Given the description of an element on the screen output the (x, y) to click on. 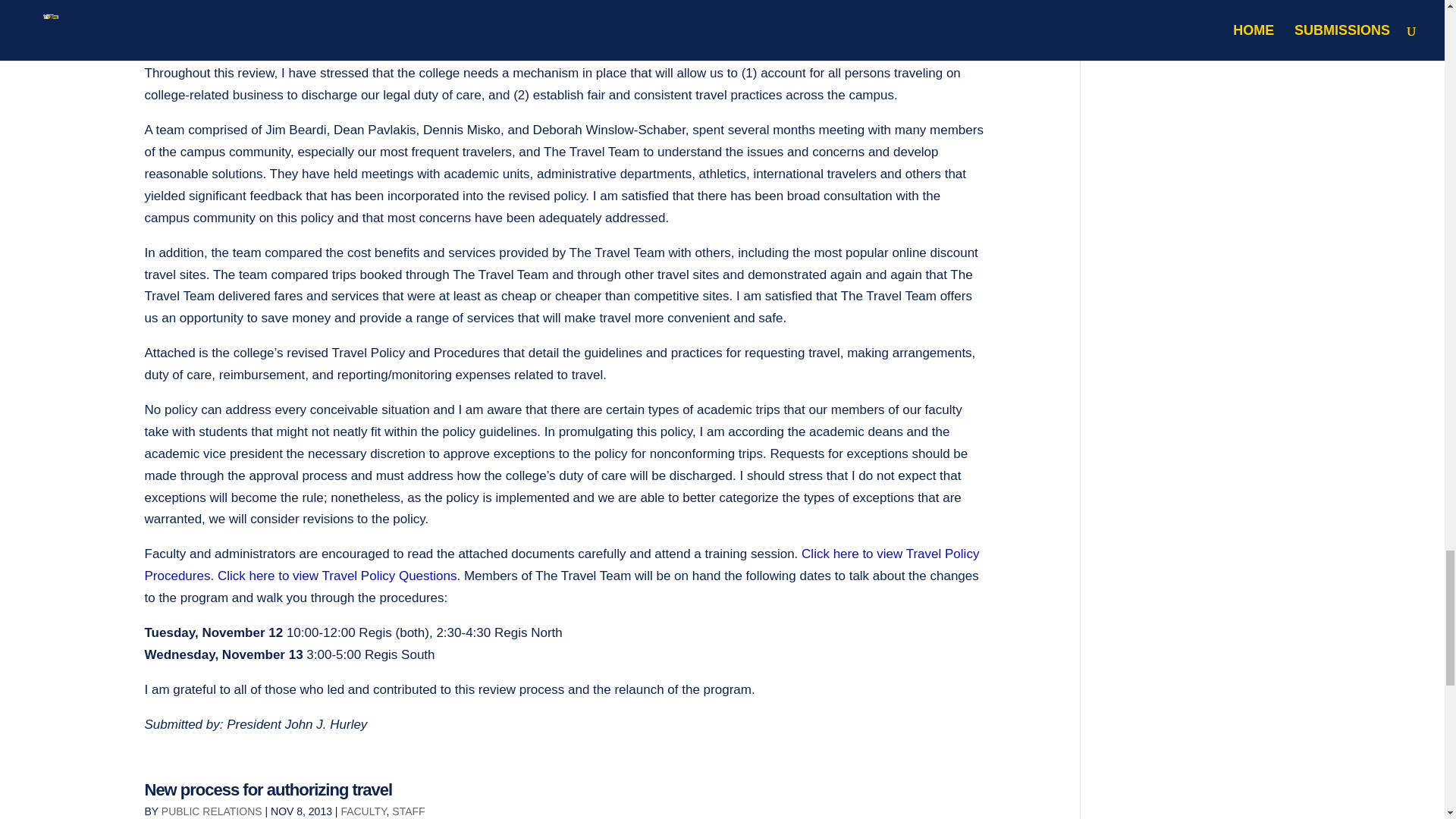
New process for authorizing travel (267, 789)
Click here to view Travel Policy Procedures (561, 565)
PUBLIC RELATIONS (211, 811)
STAFF (408, 811)
Click here to view Travel Policy Questions. (337, 575)
Posts by Public Relations (211, 811)
FACULTY (362, 811)
